Given the description of an element on the screen output the (x, y) to click on. 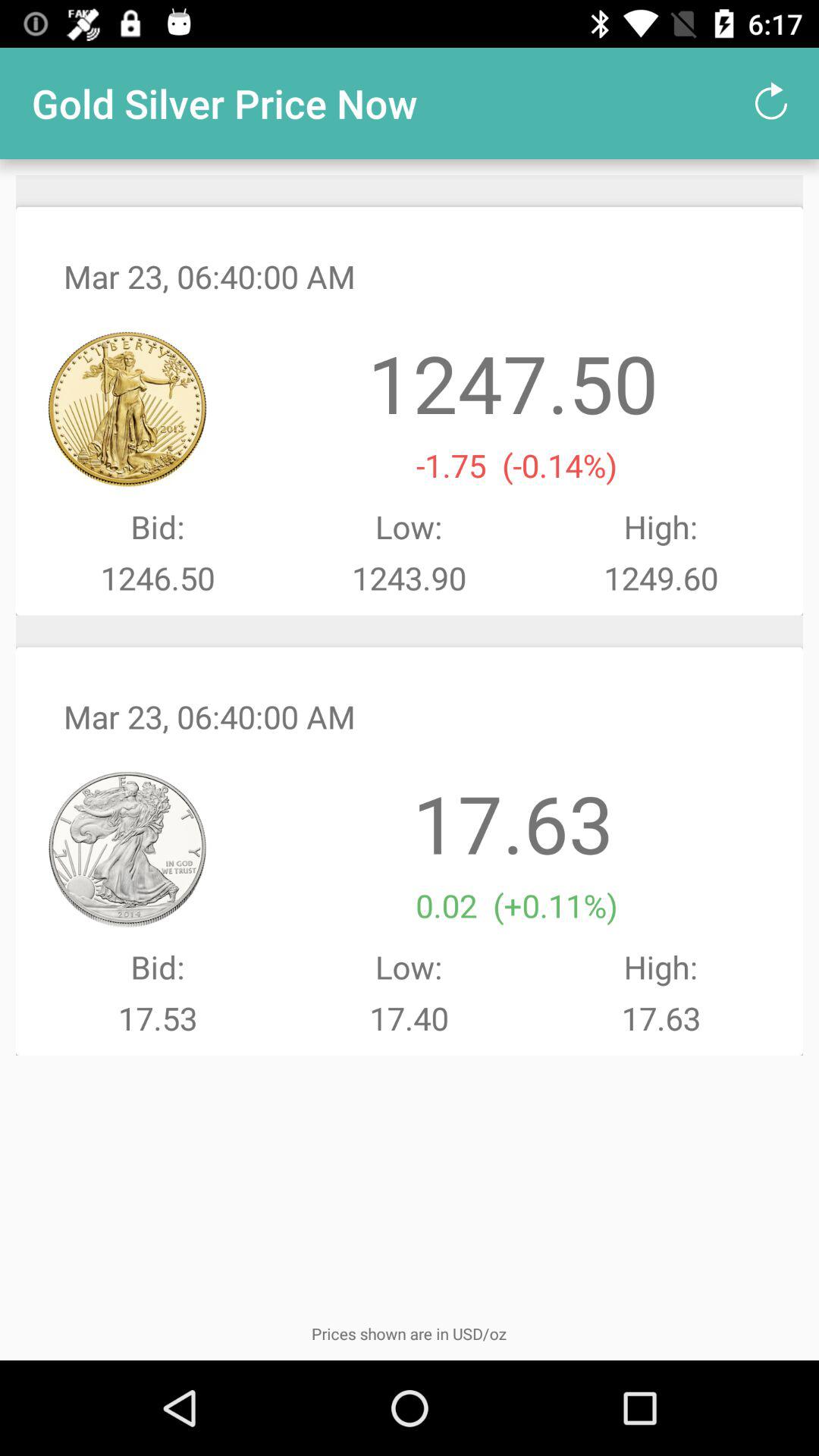
turn on item to the right of the gold silver price item (771, 103)
